Given the description of an element on the screen output the (x, y) to click on. 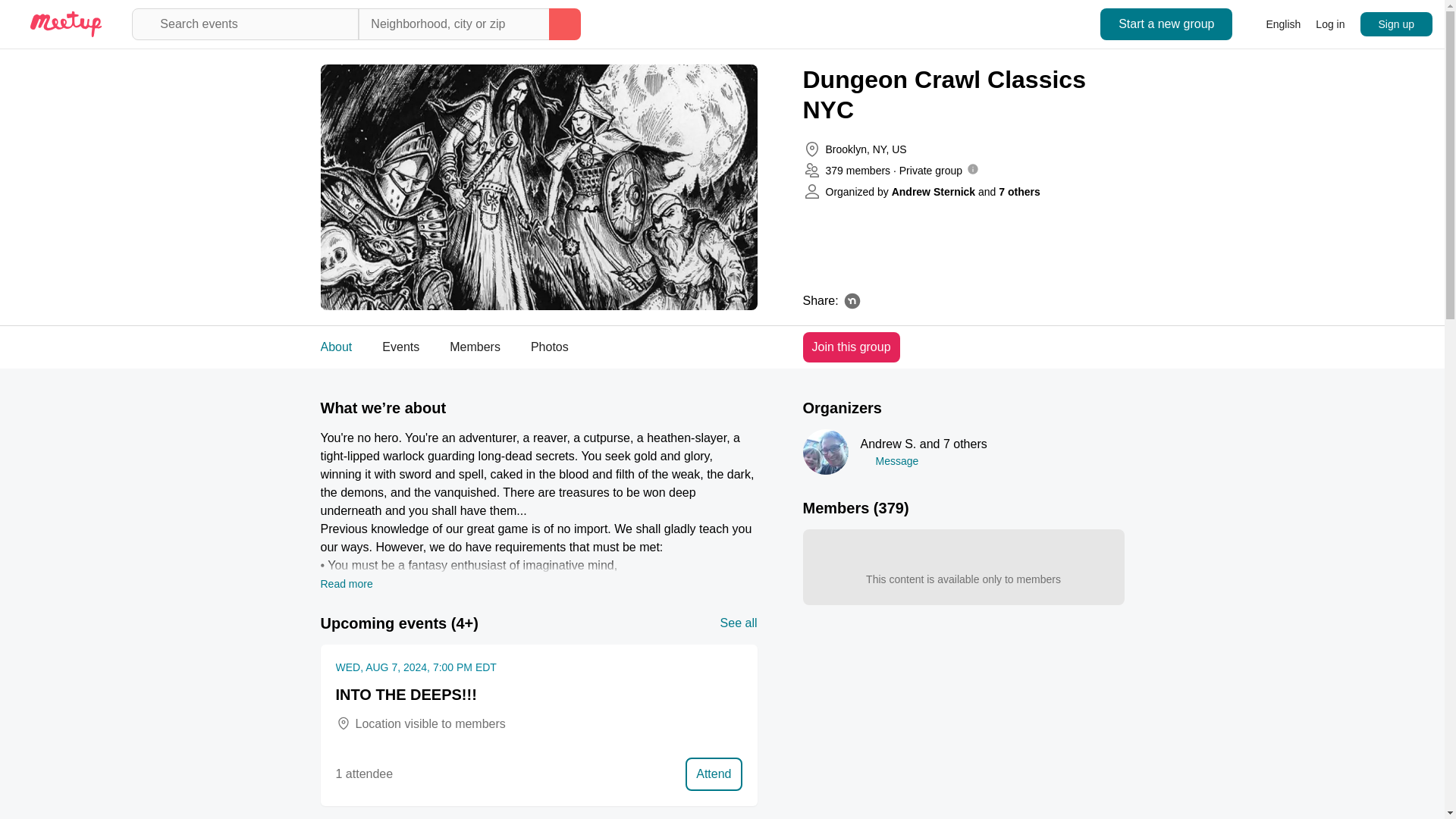
Members (474, 347)
Brooklyn, NY, US (561, 347)
Nextdoor (556, 347)
Sign up (865, 149)
See all (852, 300)
About (1395, 24)
Join this group (738, 623)
English (336, 347)
Photos (850, 347)
Log in (1273, 23)
Message (550, 347)
Events (1329, 23)
